Given the description of an element on the screen output the (x, y) to click on. 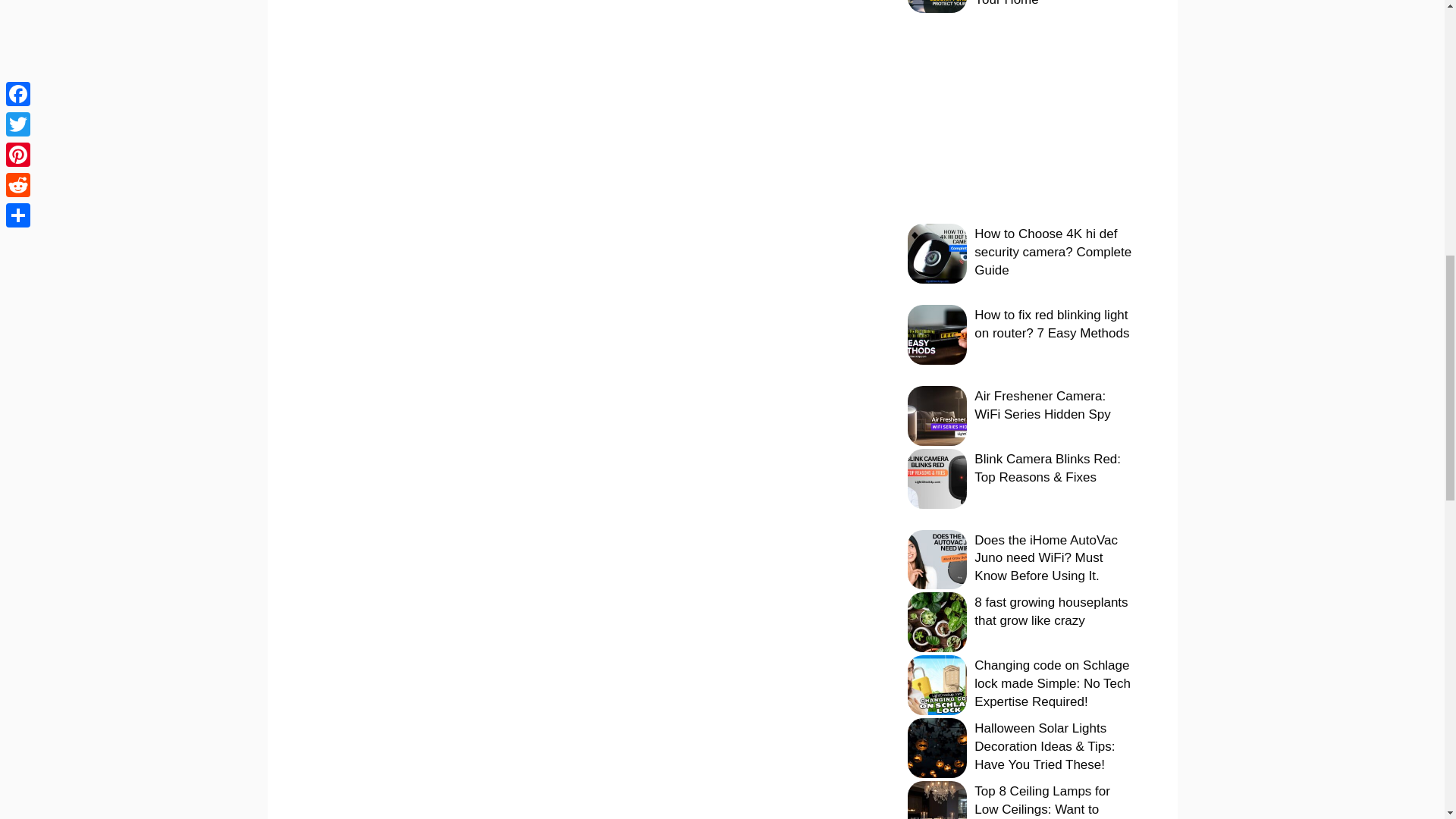
Top 8 Ceiling Lamps for Low Ceilings: Want to Explore More? (1041, 801)
Scroll back to top (1406, 720)
How to Choose 4K hi def security camera? Complete Guide (1052, 251)
How to fix red blinking light on router? 7 Easy Methods (1051, 323)
8 fast growing houseplants that grow like crazy (1050, 611)
Advertisement (1011, 117)
Air Freshener Camera: WiFi Series Hidden Spy (1042, 405)
Indoor and Outdoor Security Cameras: Protect Your Home (1049, 3)
